Given the description of an element on the screen output the (x, y) to click on. 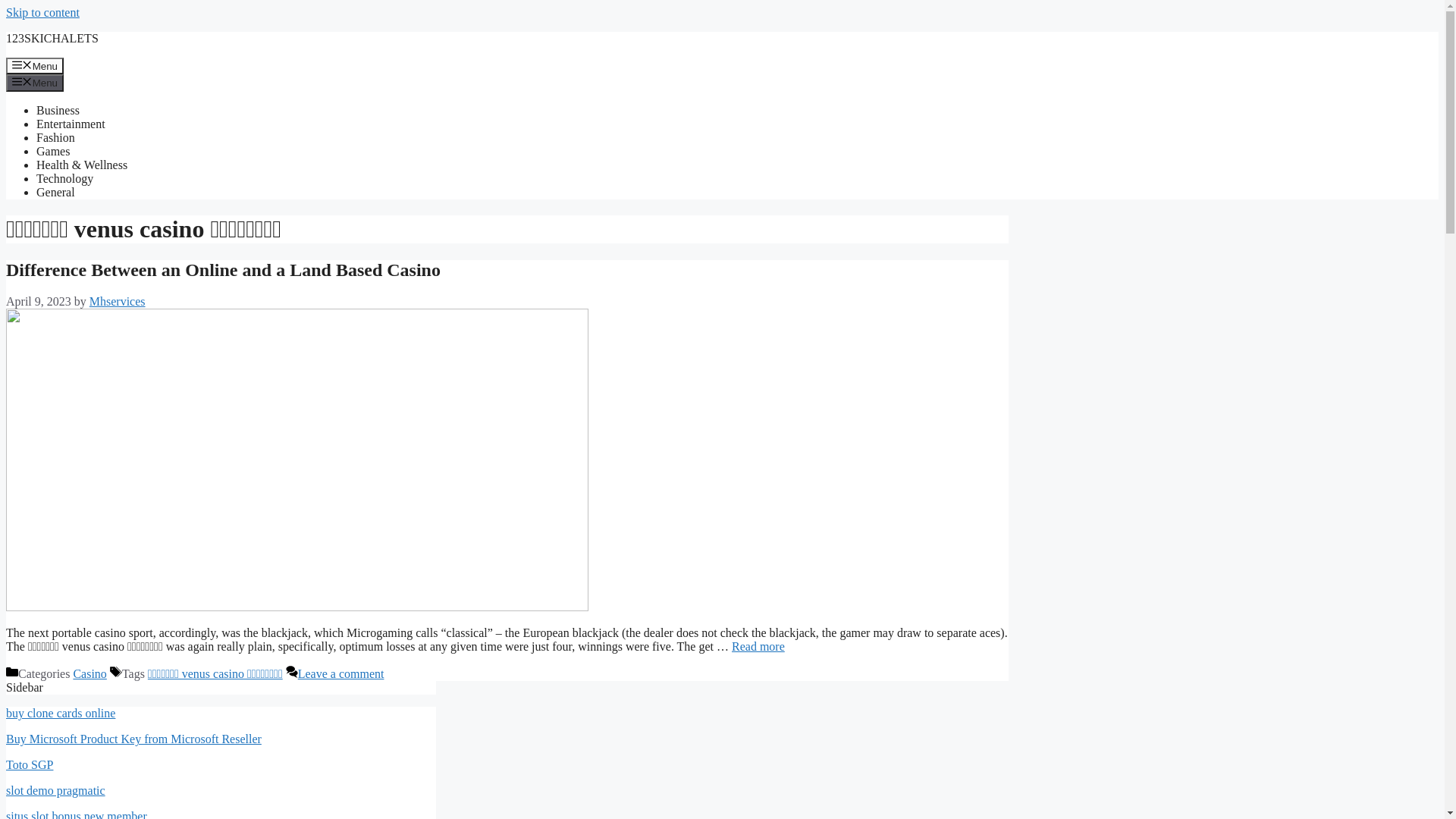
Fashion Element type: text (55, 137)
123SKICHALETS Element type: text (52, 37)
slot demo pragmatic Element type: text (55, 790)
Technology Element type: text (64, 178)
Buy Microsoft Product Key from Microsoft Reseller Element type: text (133, 738)
Health & Wellness Element type: text (81, 164)
buy clone cards online Element type: text (60, 712)
Menu Element type: text (34, 65)
Difference Between an Online and a Land Based Casino Element type: text (223, 269)
Menu Element type: text (34, 82)
Business Element type: text (57, 109)
Toto SGP Element type: text (29, 764)
Leave a comment Element type: text (341, 673)
Skip to content Element type: text (42, 12)
General Element type: text (55, 191)
Read more Element type: text (757, 646)
Games Element type: text (52, 150)
Entertainment Element type: text (70, 123)
Mhservices Element type: text (117, 300)
Casino Element type: text (89, 673)
